Given the description of an element on the screen output the (x, y) to click on. 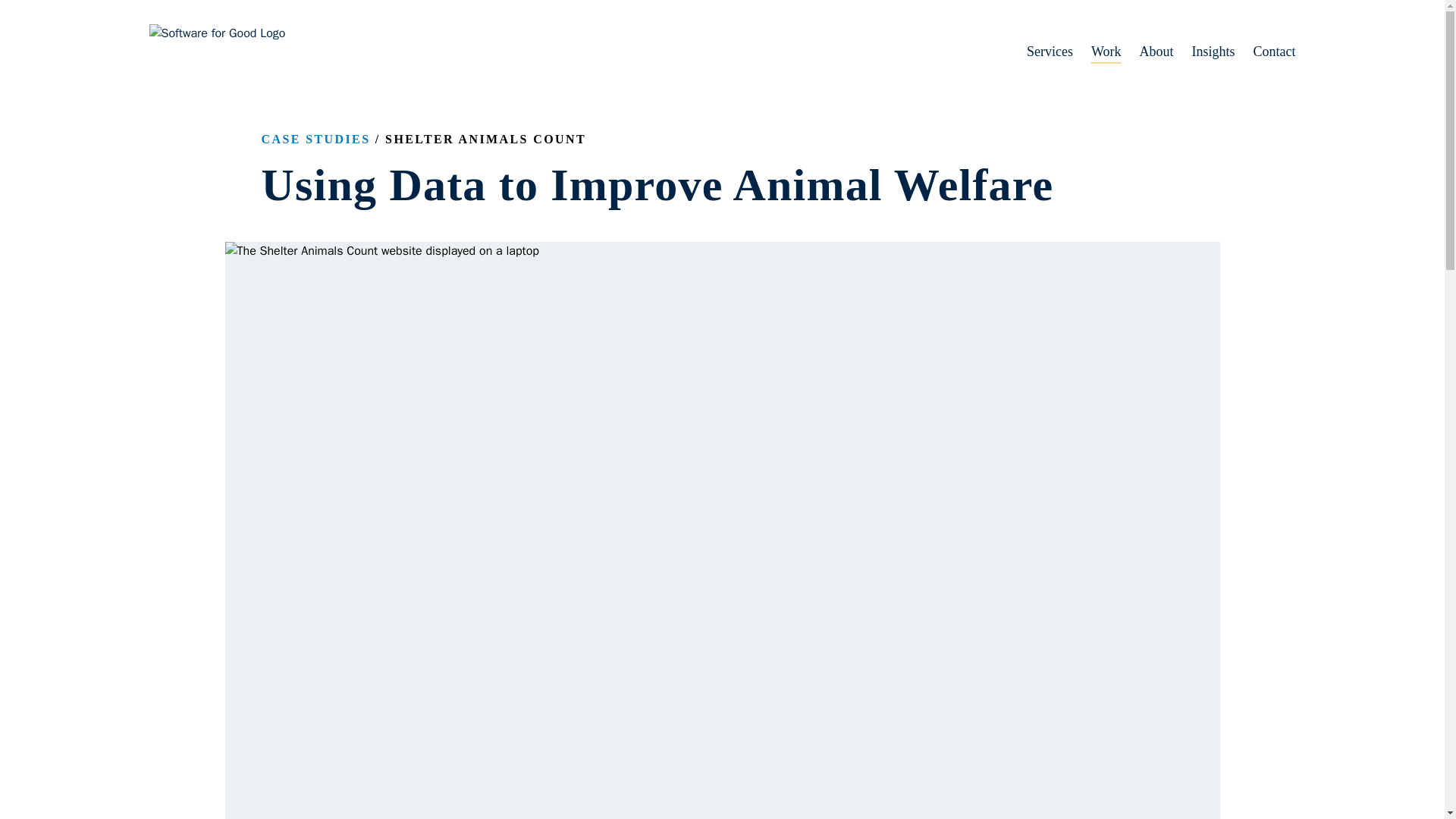
About (1147, 51)
Services (1041, 51)
Insights (1203, 51)
CASE STUDIES (314, 138)
Contact (1264, 51)
Work (1097, 51)
